Given the description of an element on the screen output the (x, y) to click on. 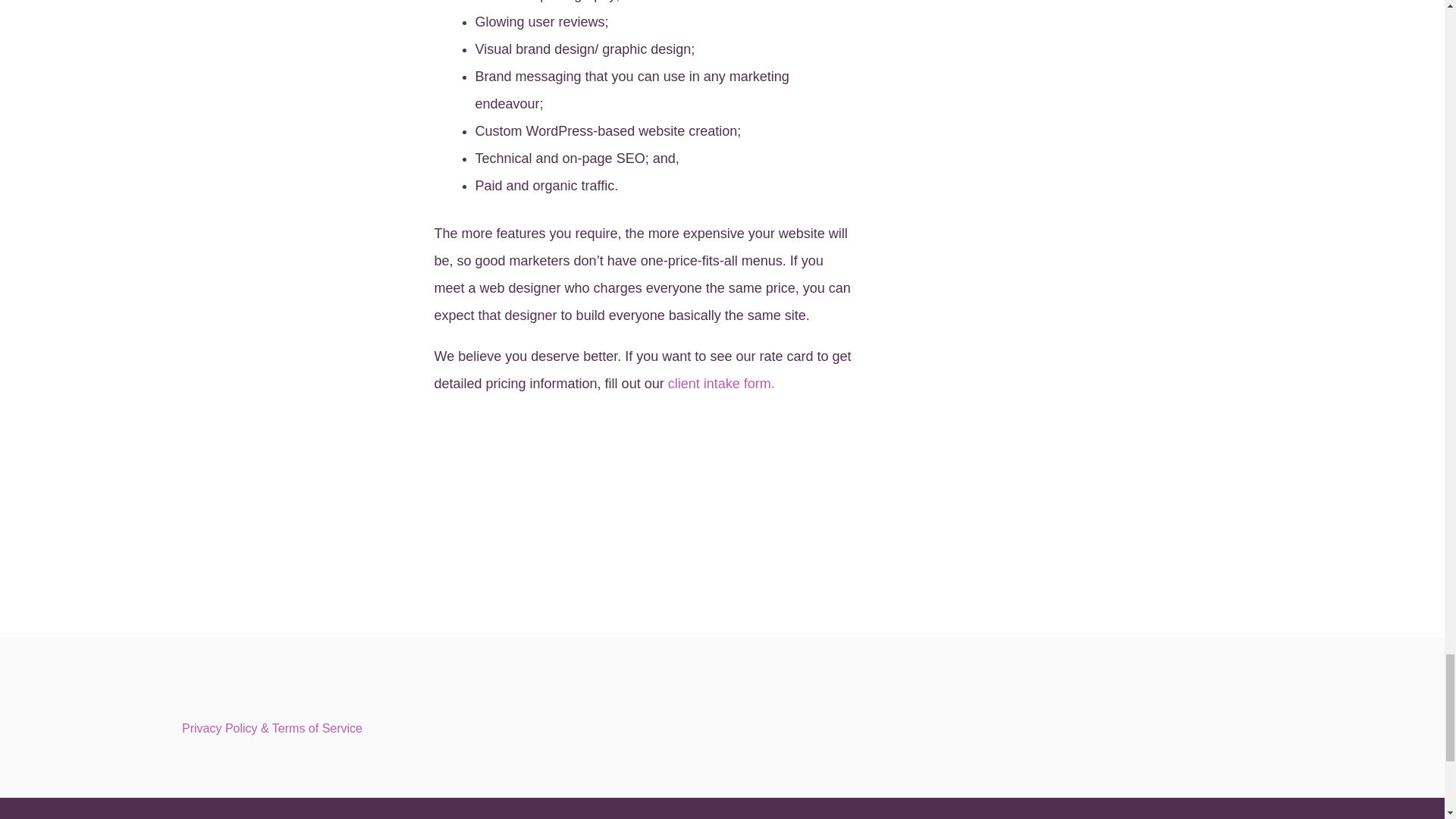
client intake form. (721, 383)
